Given the description of an element on the screen output the (x, y) to click on. 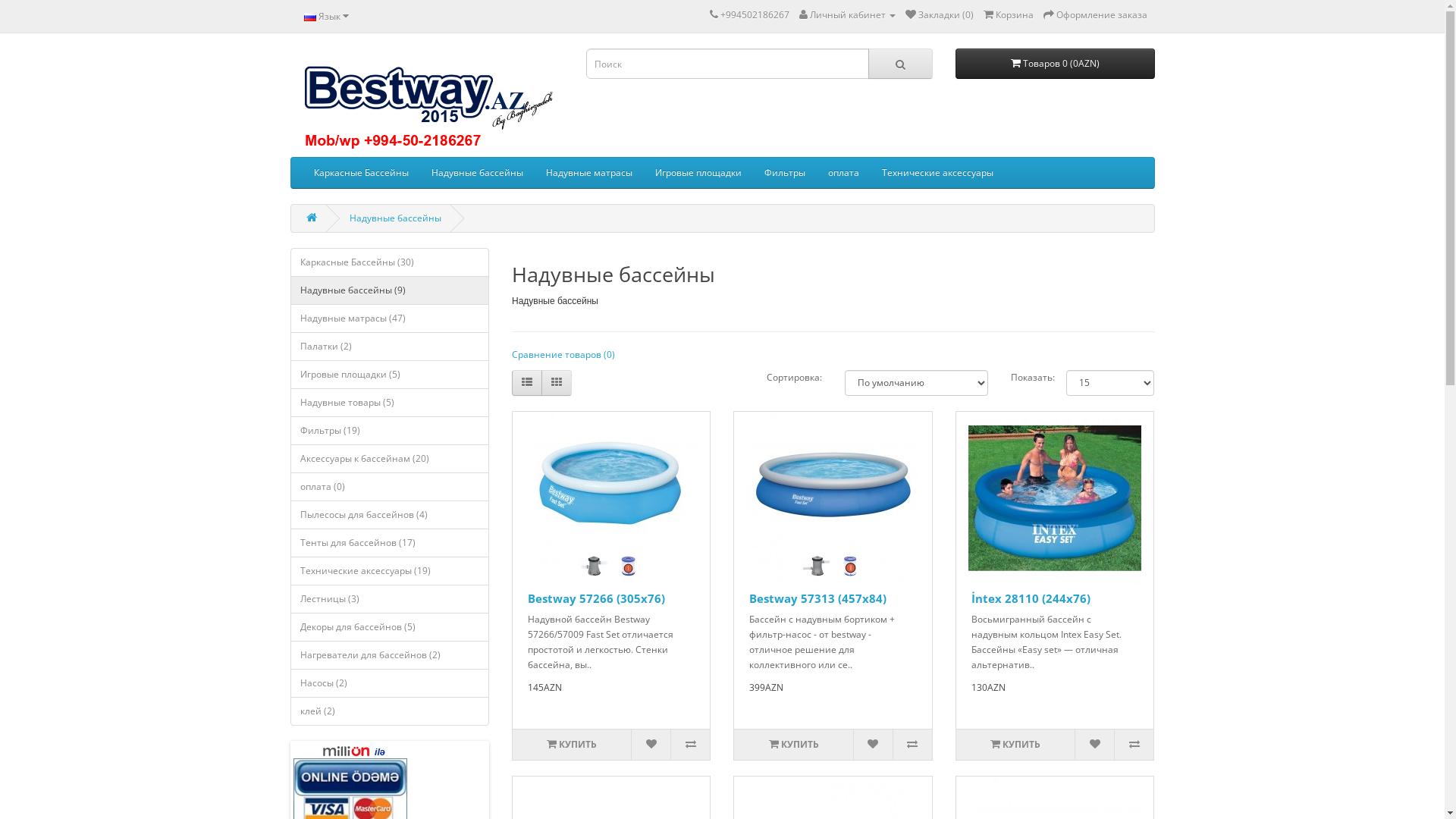
Bestway 57266 (305x76) Element type: text (596, 597)
Bestway 57266 (305x76) Element type: hover (610, 497)
Russian Element type: hover (309, 16)
